Given the description of an element on the screen output the (x, y) to click on. 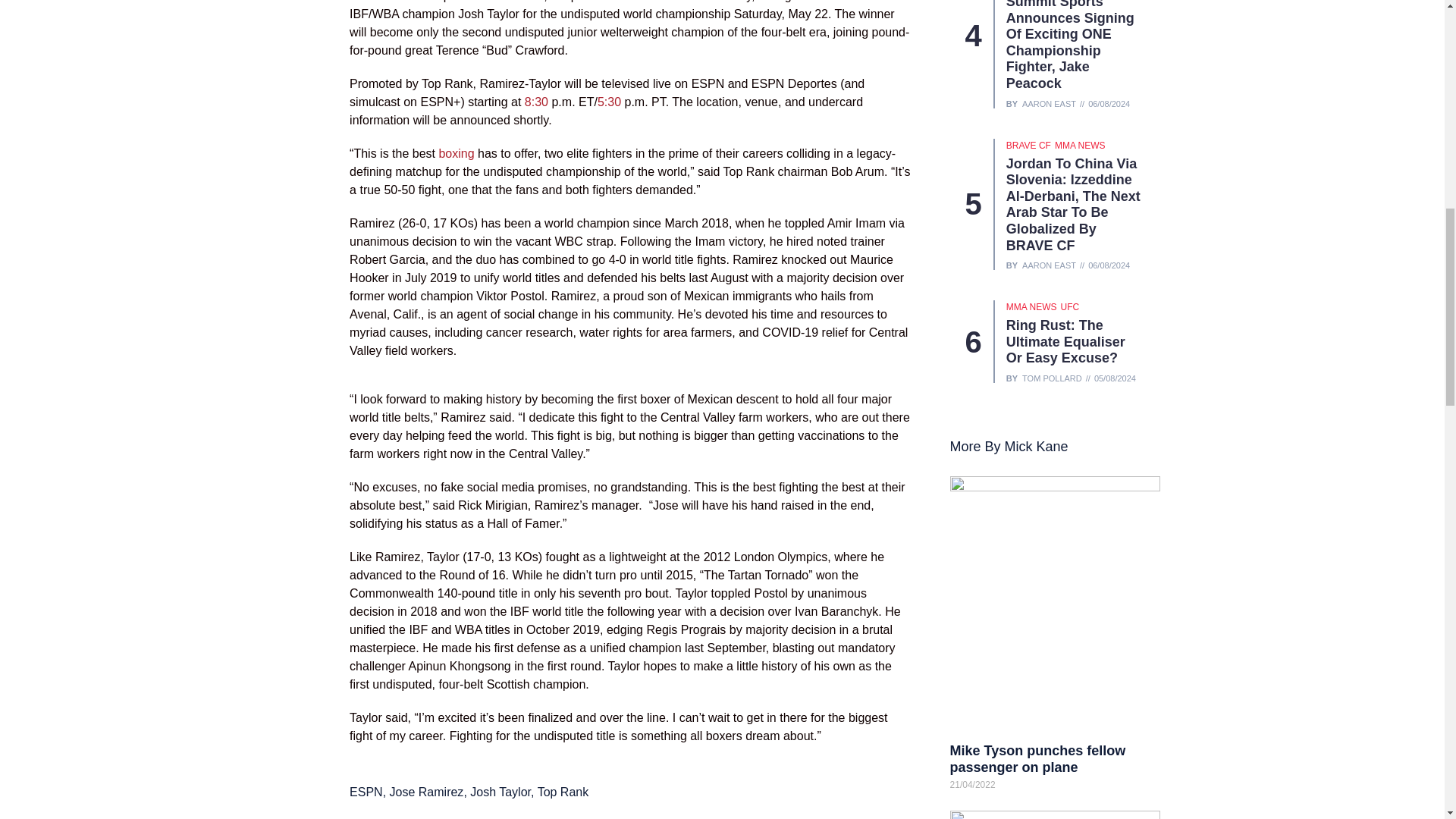
boxing (456, 153)
Ring Rust: The ultimate equaliser or easy excuse? (1065, 341)
